Given the description of an element on the screen output the (x, y) to click on. 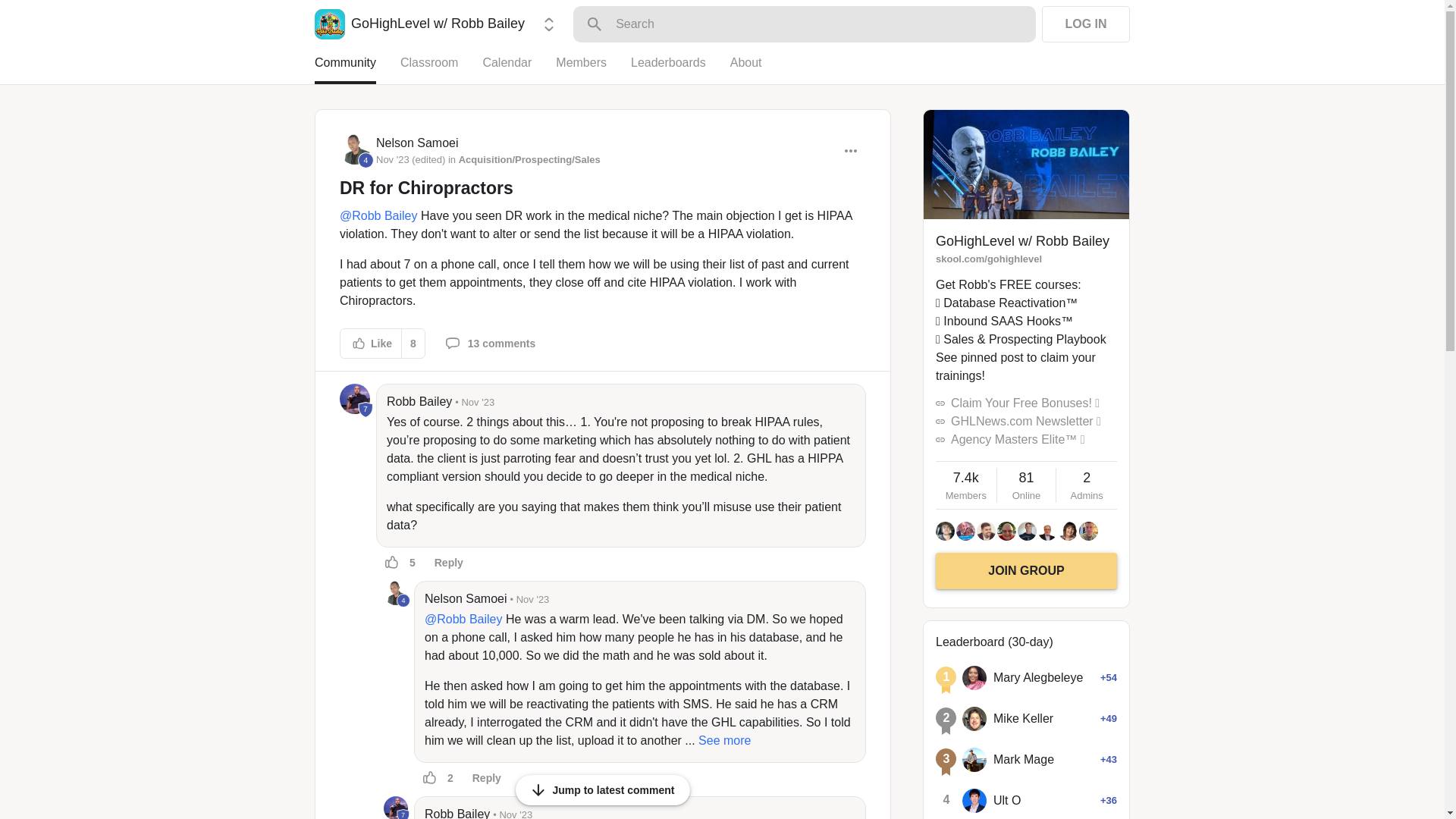
Community (357, 69)
7 (354, 399)
Gary Miller (1026, 530)
Radhakrishnan Kg (985, 530)
Nelson Samoei (416, 143)
4 (366, 160)
7 (403, 814)
Miles Price (965, 530)
4 (354, 149)
7 (395, 807)
Robb Bailey (395, 807)
Robb Bailey (419, 402)
4 (403, 600)
Randy Grabler (1006, 530)
Reply (449, 562)
